Given the description of an element on the screen output the (x, y) to click on. 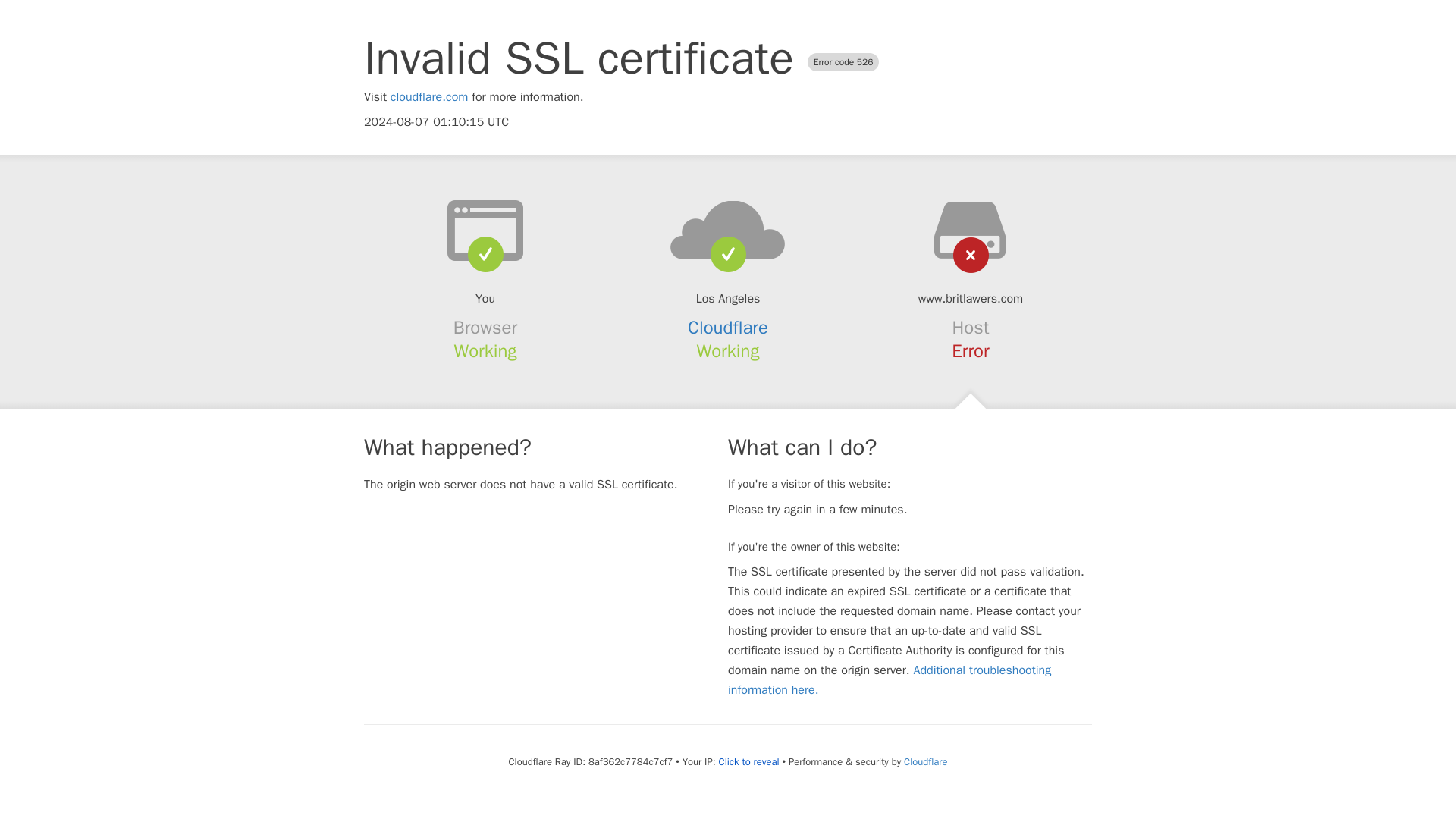
Cloudflare (925, 761)
cloudflare.com (429, 96)
Click to reveal (748, 762)
Cloudflare (727, 327)
Additional troubleshooting information here. (889, 679)
